Given the description of an element on the screen output the (x, y) to click on. 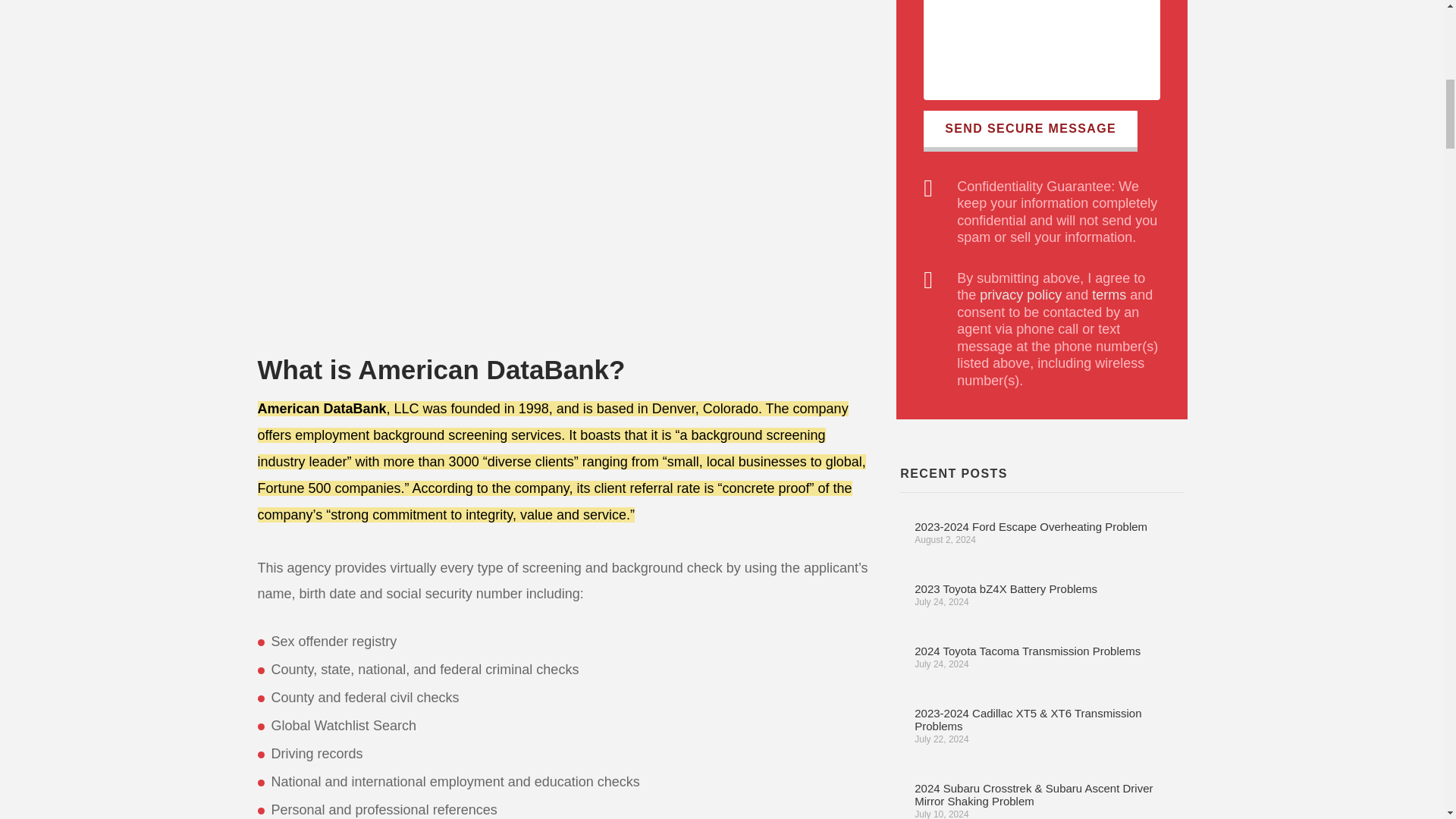
SEND SECURE MESSAGE (1030, 130)
2024 Toyota Tacoma Transmission Problems (1027, 650)
2023 Toyota bZ4X Battery Problems (1005, 588)
privacy policy (1020, 294)
terms (1108, 294)
2023-2024 Ford Escape Overheating Problem (1030, 526)
SEND SECURE MESSAGE (1030, 130)
